Given the description of an element on the screen output the (x, y) to click on. 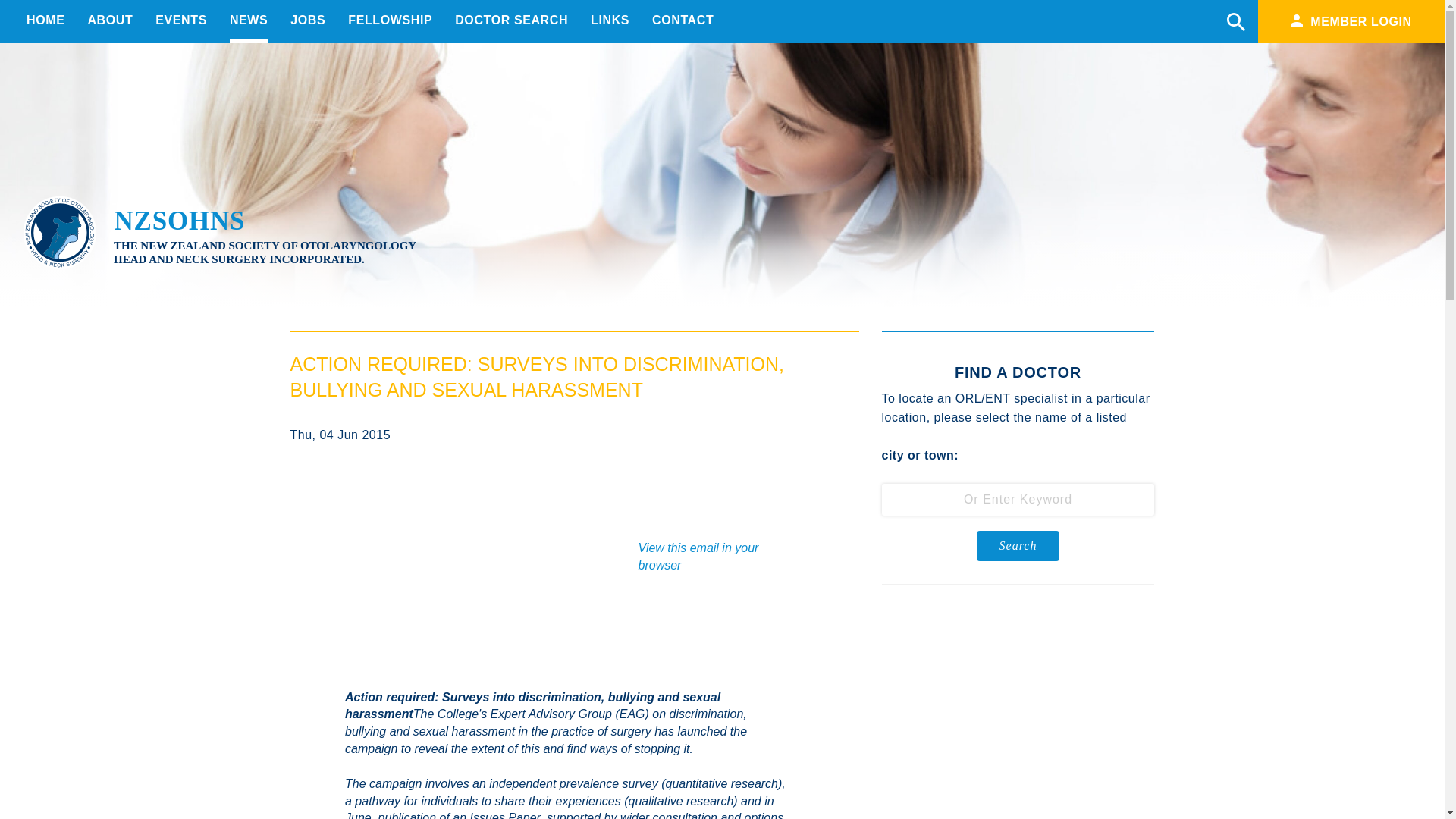
Search (1017, 545)
View this email in your browser (698, 556)
HOME (45, 19)
LINKS (609, 19)
ABOUT (109, 19)
FELLOWSHIP (389, 19)
EVENTS (180, 19)
CONTACT (682, 19)
DOCTOR SEARCH (510, 19)
